Given the description of an element on the screen output the (x, y) to click on. 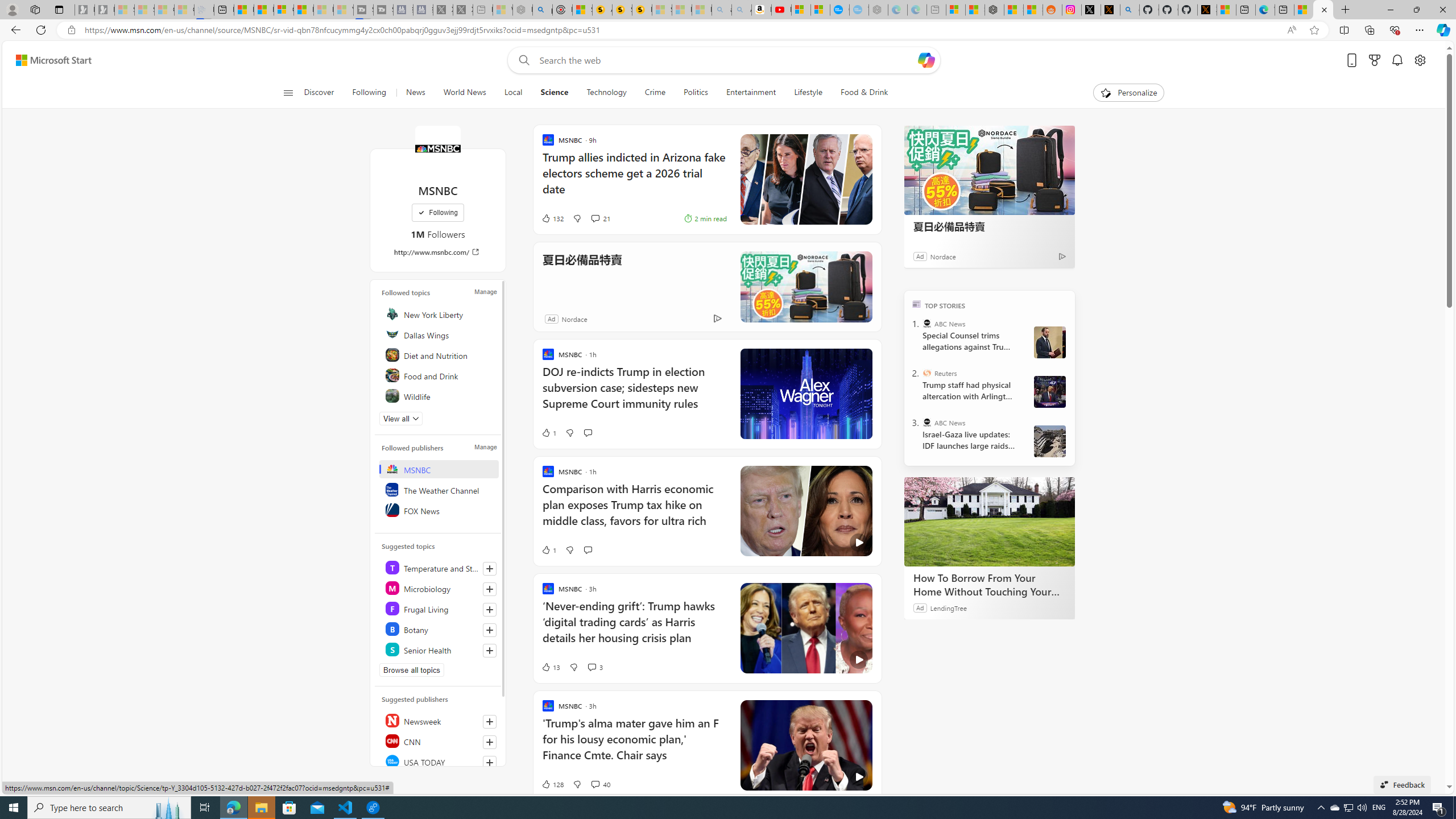
Welcome to Microsoft Edge (1264, 9)
View comments 3 Comment (591, 666)
Personalize (1128, 92)
How To Borrow From Your Home Without Touching Your Mortgage (989, 521)
1 Like (547, 549)
How To Borrow From Your Home Without Touching Your Mortgage (988, 584)
github - Search (1129, 9)
View all (401, 418)
